Given the description of an element on the screen output the (x, y) to click on. 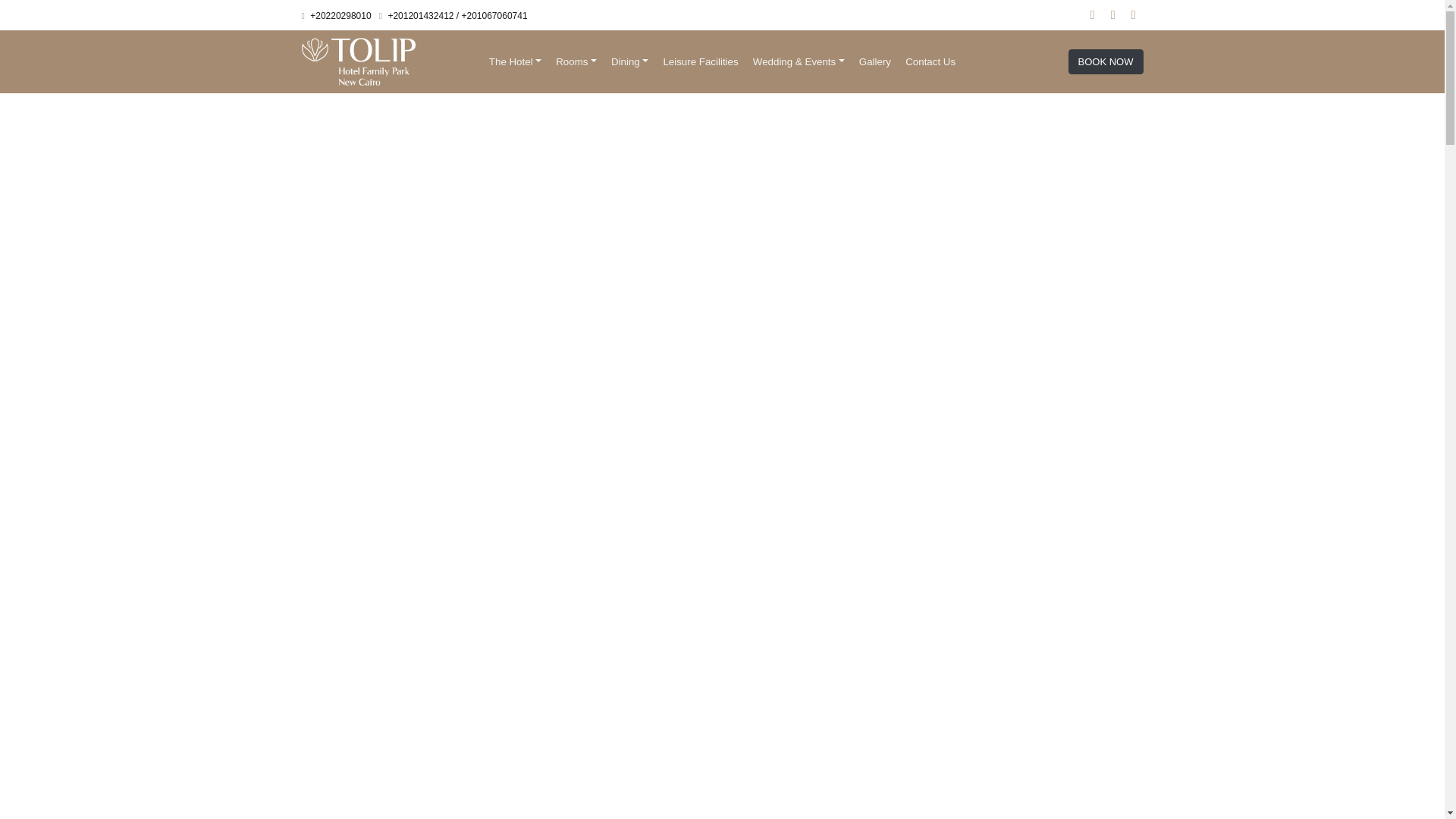
The Hotel (514, 61)
Contact Us (930, 61)
Leisure Facilities (700, 61)
Gallery (874, 61)
Dining (629, 61)
SCROLL DOWN (721, 739)
Rooms (576, 61)
